Given the description of an element on the screen output the (x, y) to click on. 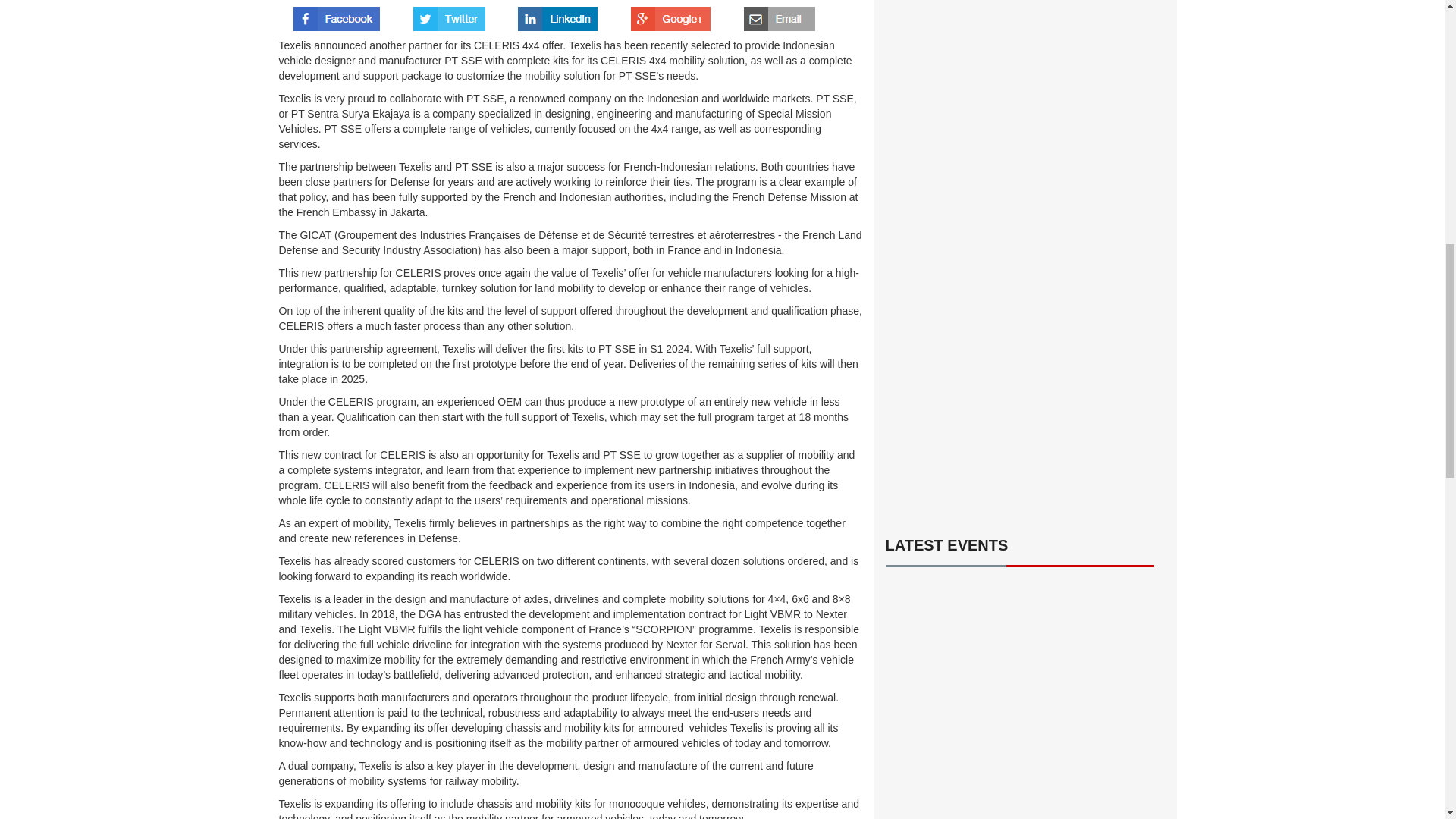
Share on LinkedIn (557, 14)
Tweet this (448, 14)
Visit defaiya on Facebook (337, 14)
